Given the description of an element on the screen output the (x, y) to click on. 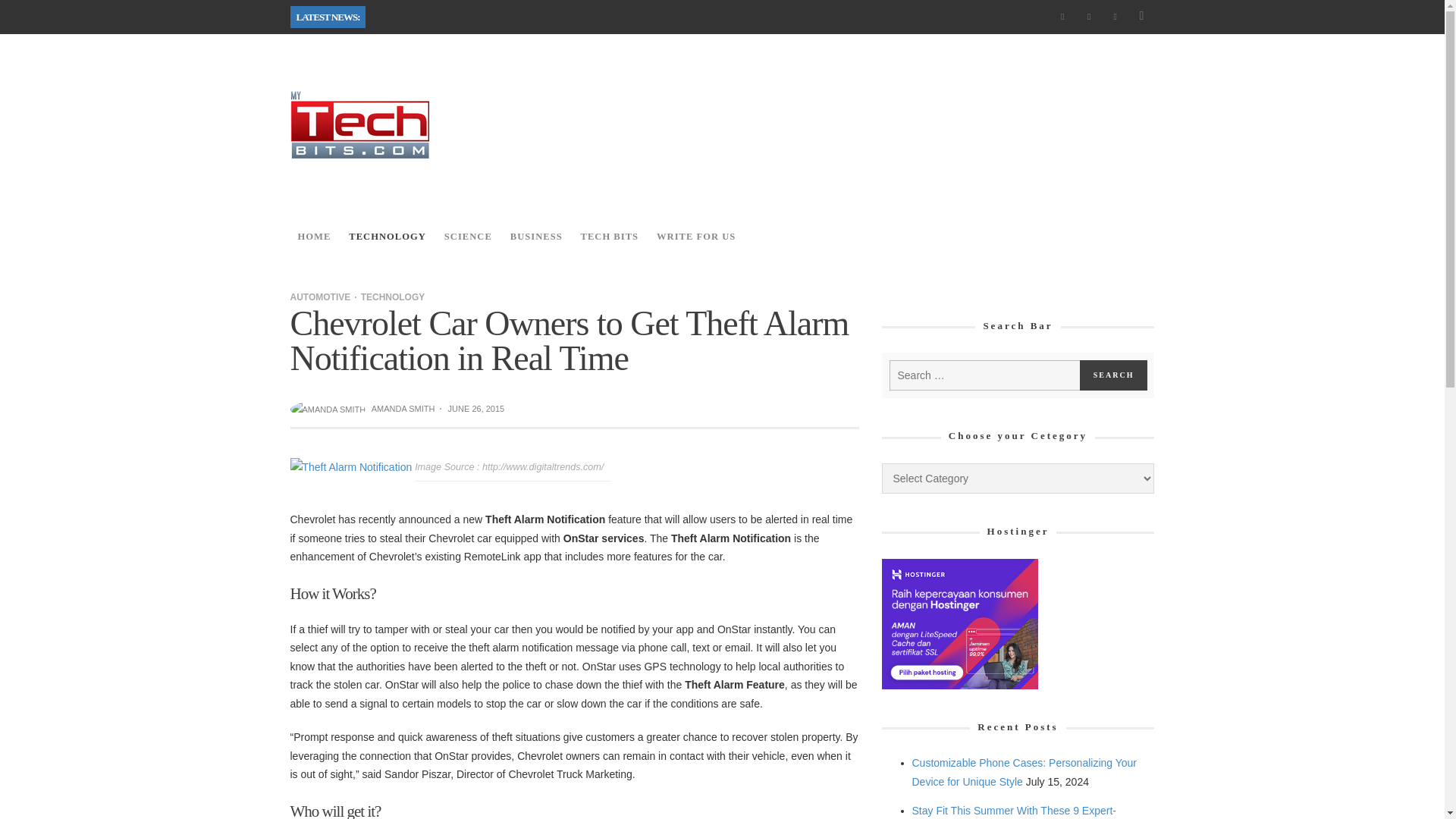
Search (1114, 375)
Twitter (1114, 16)
Facebook (1062, 16)
WRITE FOR US (695, 236)
Search (1114, 375)
TECHNOLOGY (386, 236)
TECH BITS (609, 236)
SCIENCE (467, 236)
HOME (313, 236)
View all posts by Amanda Smith (403, 408)
View all posts in Automotive (319, 296)
RSS (1089, 16)
Posts by Amanda Smith (329, 408)
BUSINESS (536, 236)
